Given the description of an element on the screen output the (x, y) to click on. 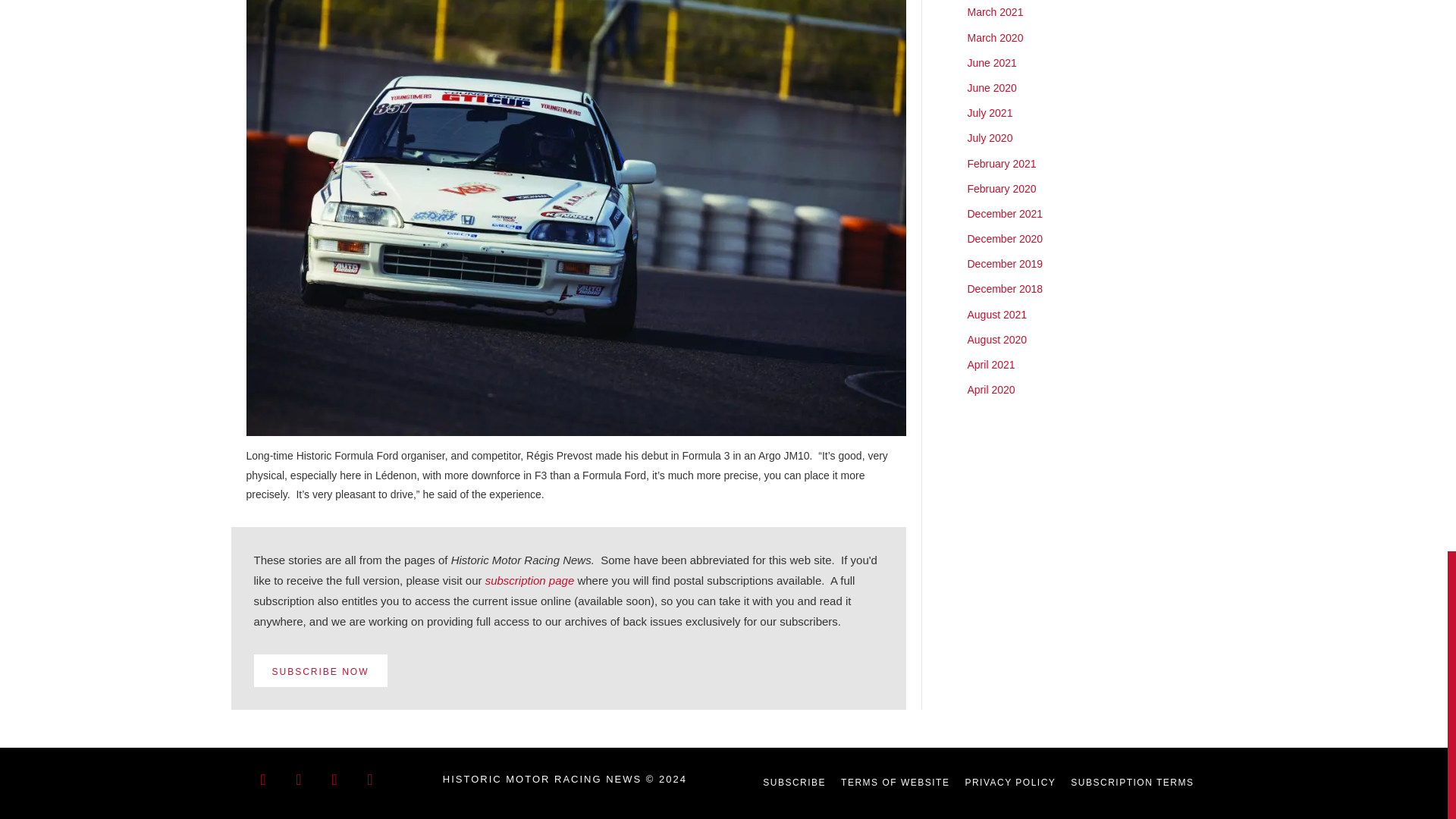
subscription page (529, 580)
SUBSCRIBE NOW (320, 670)
